Given the description of an element on the screen output the (x, y) to click on. 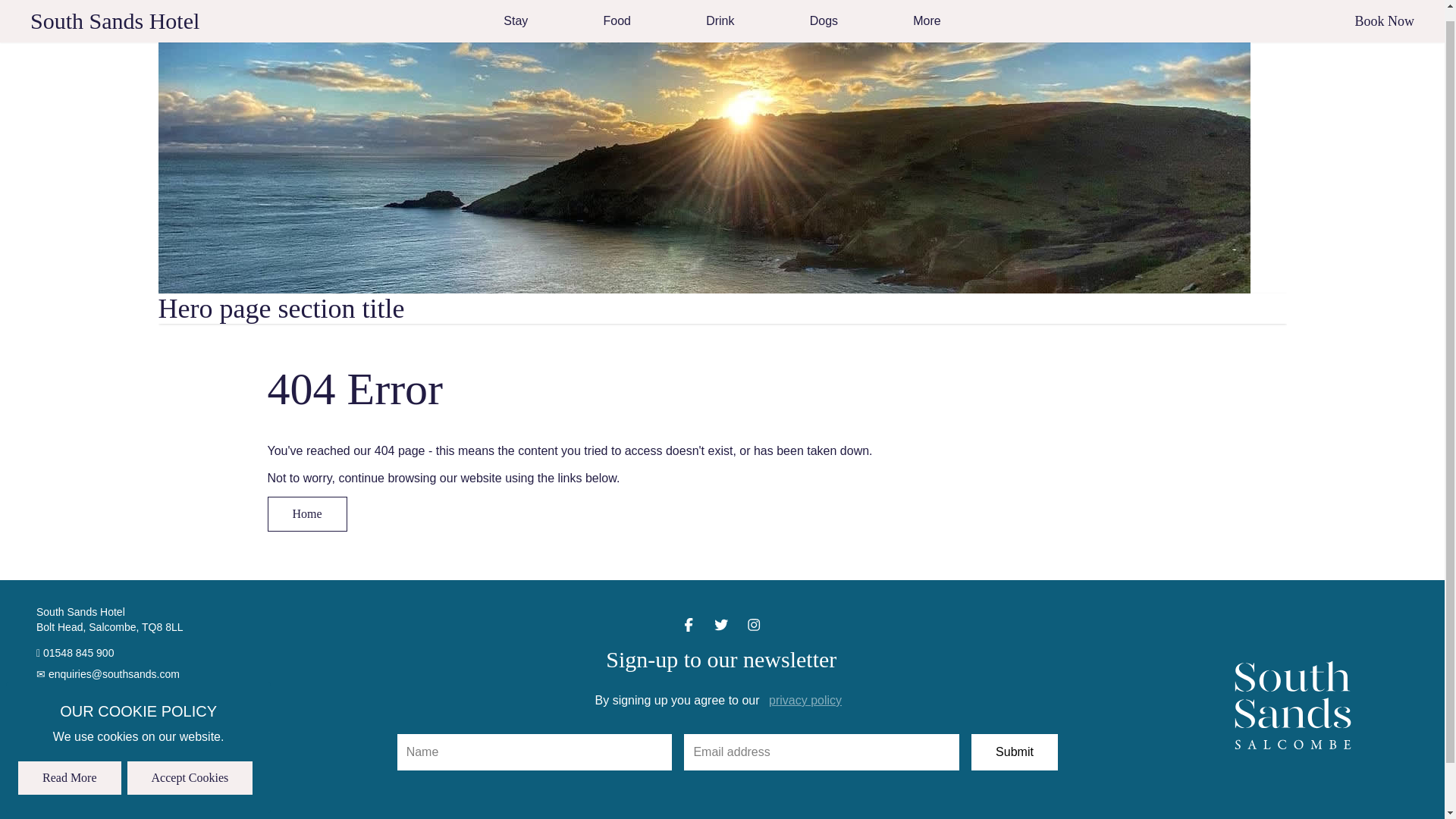
South Sands Hotel (114, 11)
Stay (516, 15)
Book Now (1383, 9)
Home Page (114, 11)
Drink (719, 15)
Dogs (823, 15)
Food (617, 15)
